Given the description of an element on the screen output the (x, y) to click on. 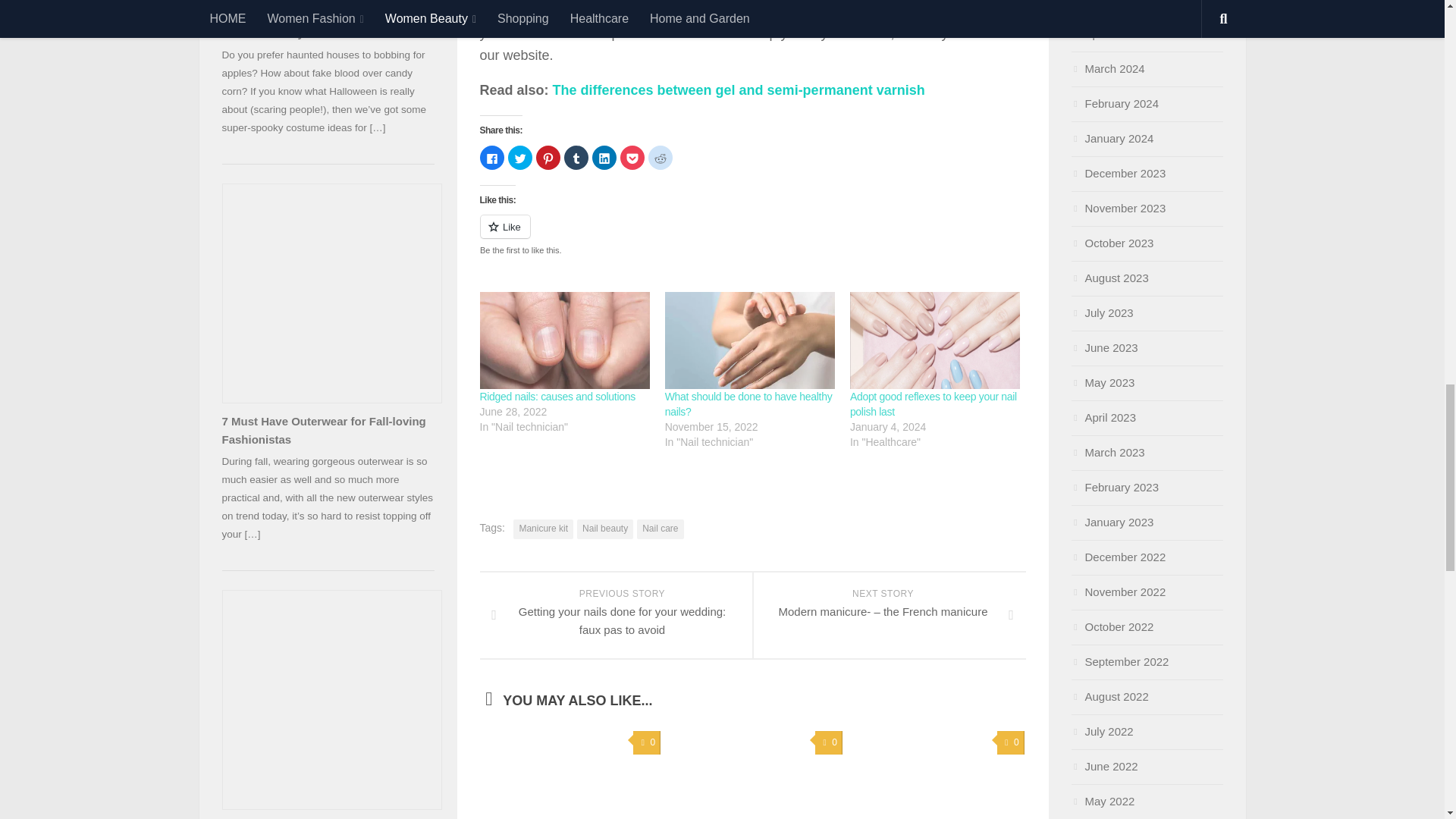
Click to share on Reddit (659, 157)
Click to share on Facebook (491, 157)
Click to share on Twitter (520, 157)
Click to share on LinkedIn (603, 157)
Click to share on Pocket (632, 157)
manicure kit (685, 32)
Click to share on Pinterest (547, 157)
Click to share on Tumblr (576, 157)
The differences between gel and semi-permanent varnish (738, 89)
